Given the description of an element on the screen output the (x, y) to click on. 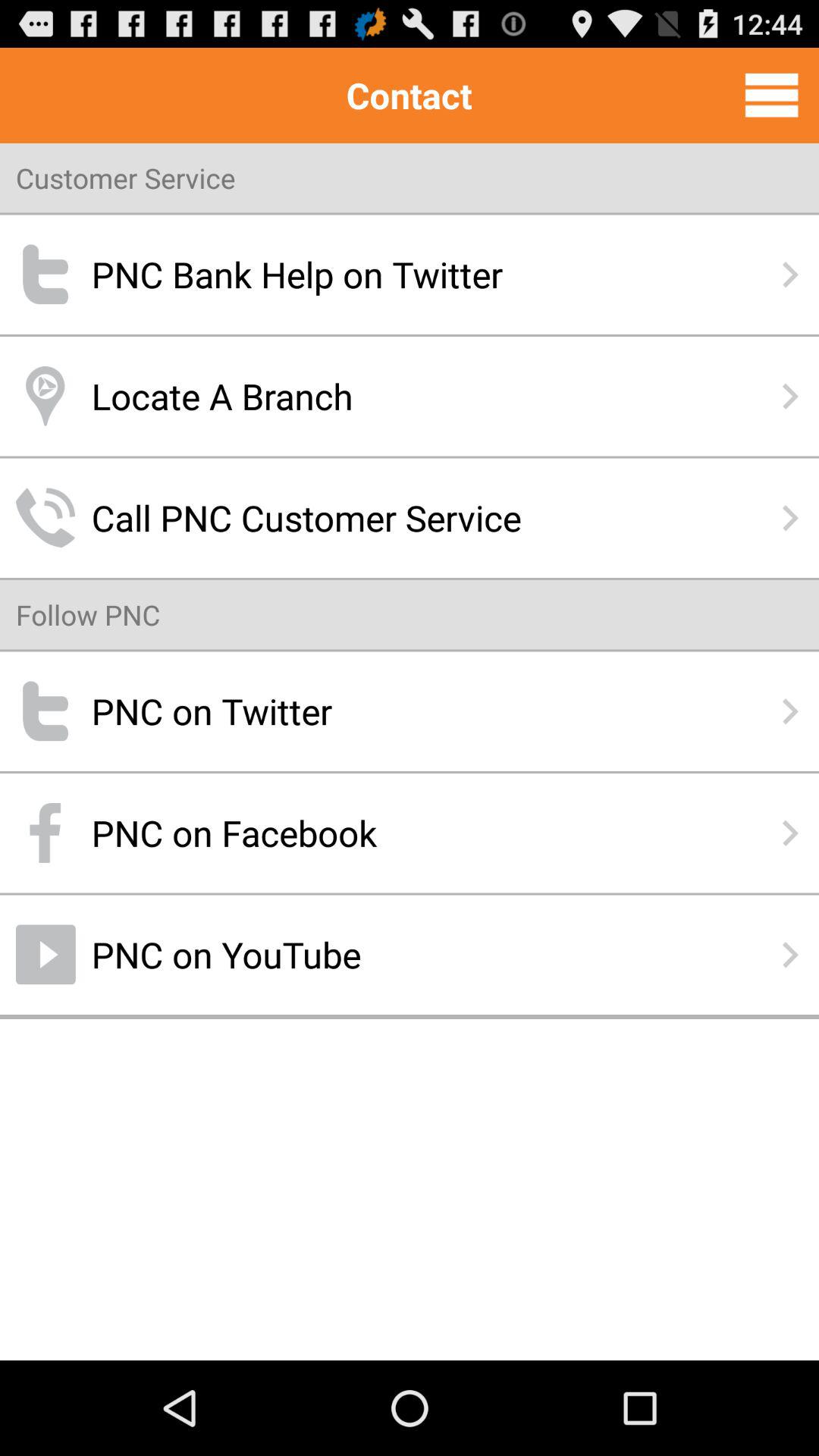
flip until the call pnc customer (409, 517)
